Given the description of an element on the screen output the (x, y) to click on. 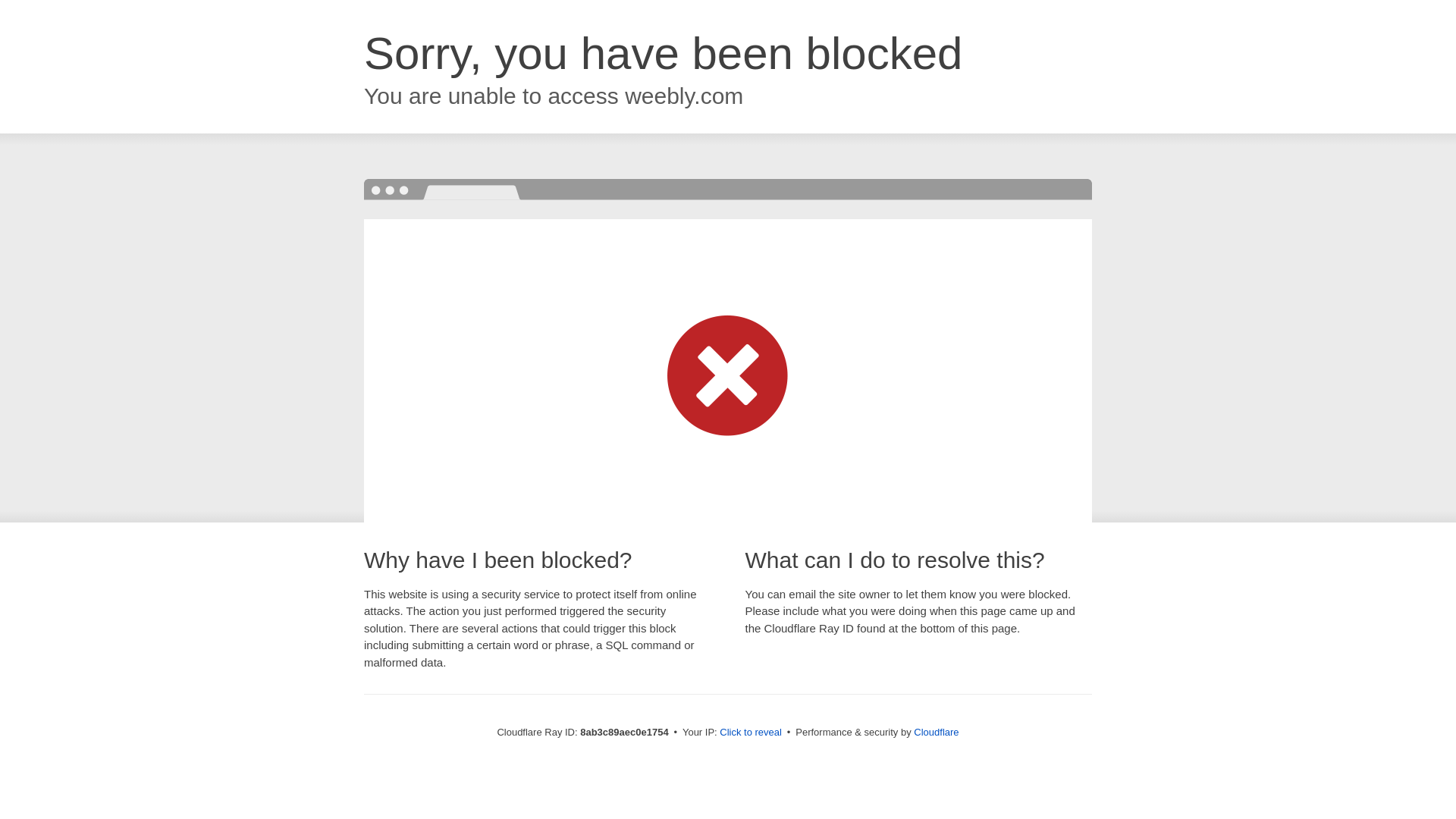
Cloudflare (936, 731)
Click to reveal (750, 732)
